Given the description of an element on the screen output the (x, y) to click on. 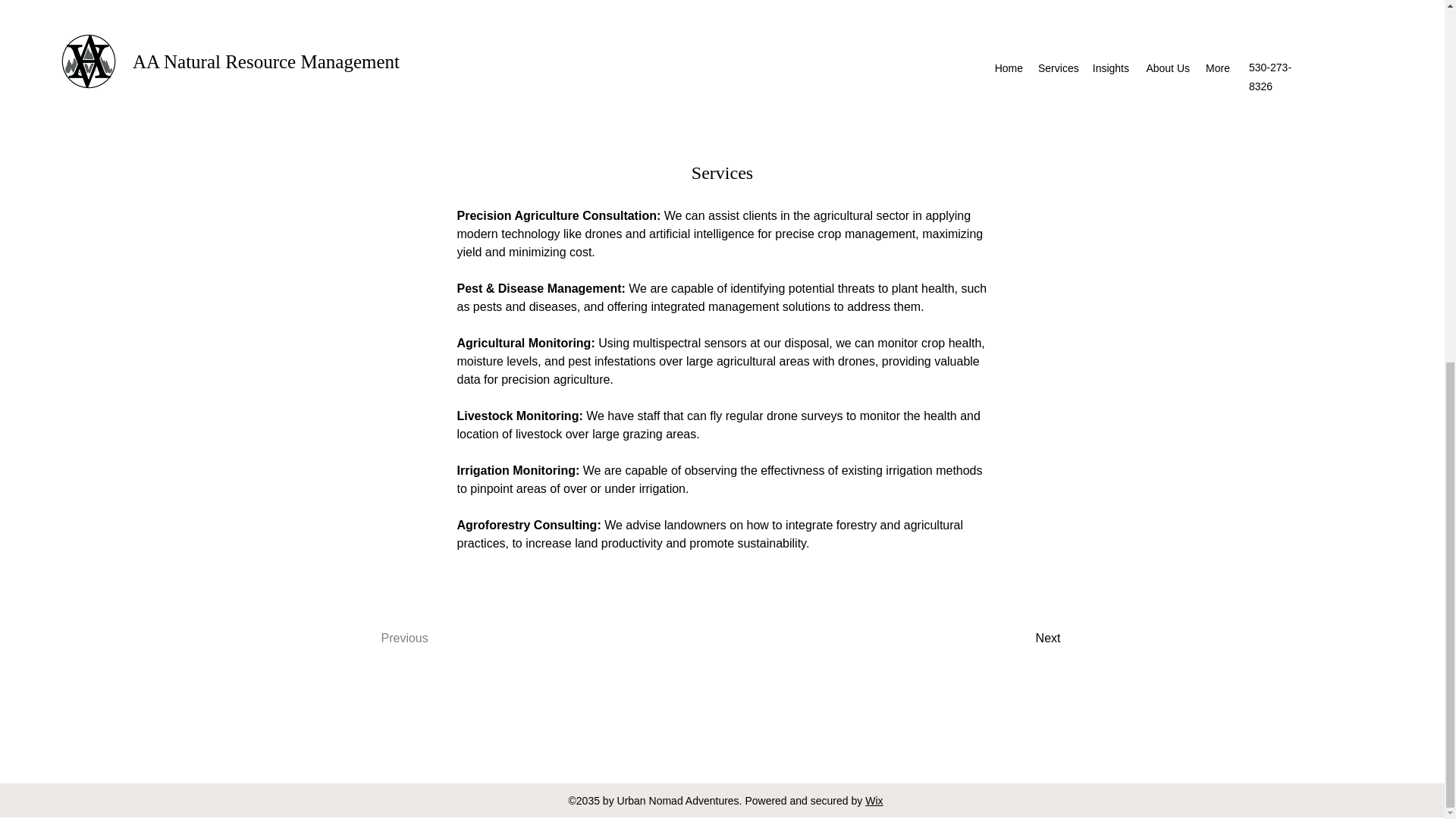
Wix (873, 800)
Previous (423, 637)
Next (1019, 637)
